Given the description of an element on the screen output the (x, y) to click on. 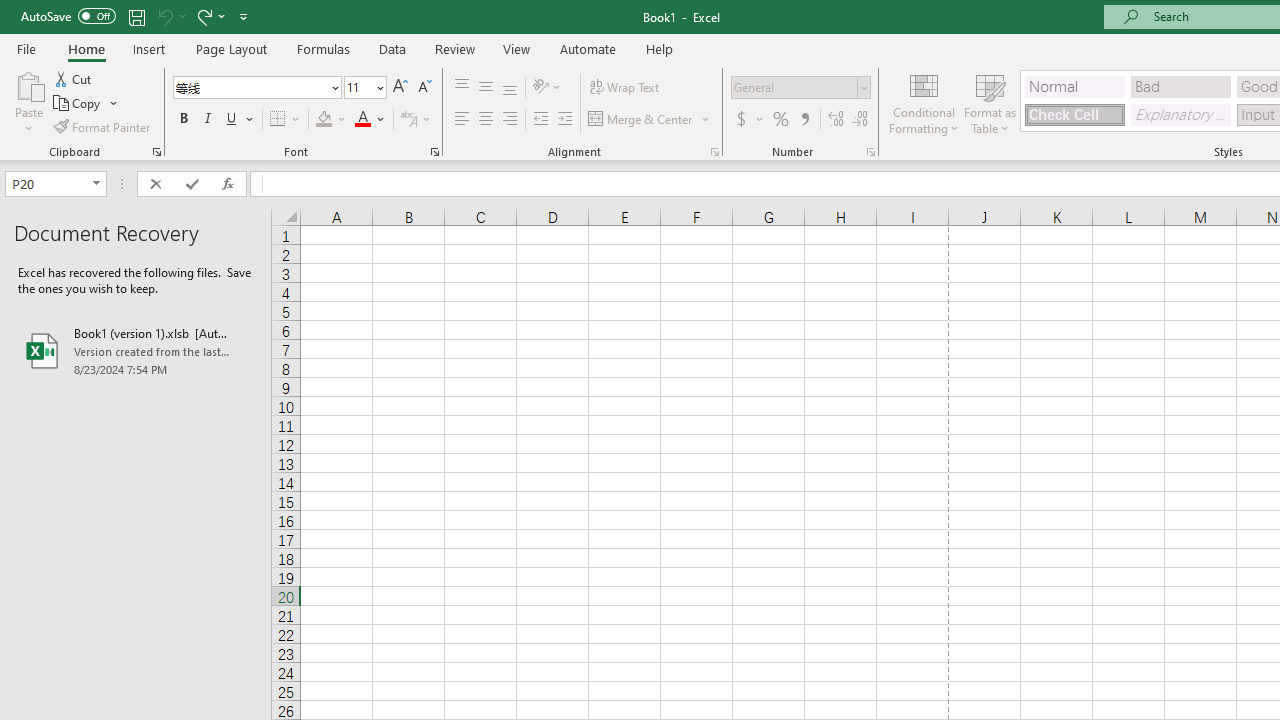
Underline (232, 119)
Top Align (461, 87)
Align Left (461, 119)
Undo (164, 15)
Font Size (358, 87)
Explanatory Text (1180, 114)
Middle Align (485, 87)
Page Layout (230, 48)
Cut (73, 78)
Undo (170, 15)
Copy (85, 103)
Italic (207, 119)
Borders (285, 119)
Customize Quick Access Toolbar (244, 15)
Format Painter (103, 126)
